Given the description of an element on the screen output the (x, y) to click on. 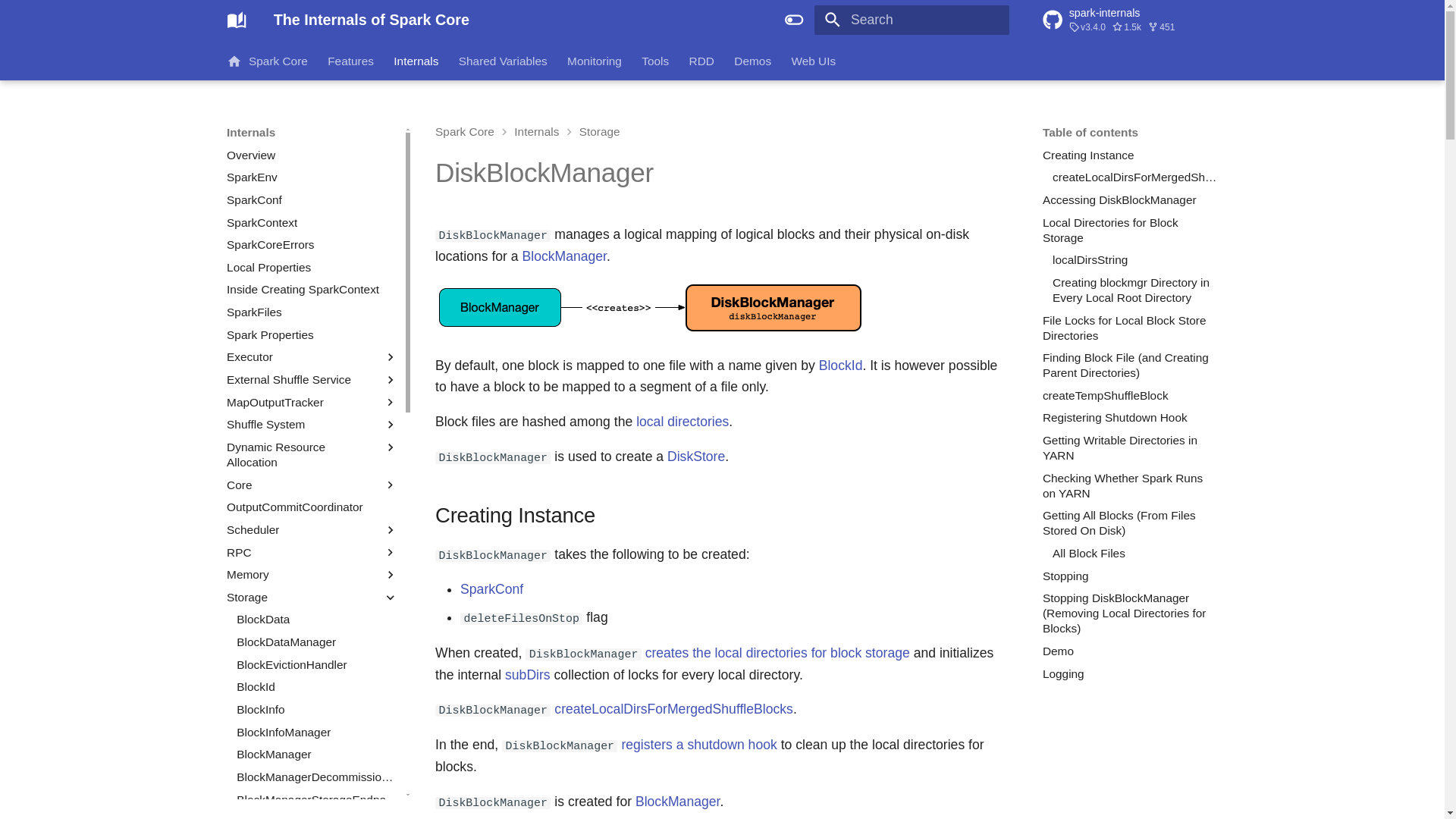
Spark Core (267, 60)
Monitoring (594, 60)
Internals (415, 60)
Go to repository (1129, 20)
Tools (655, 60)
BlockManagerStorageEndpoint (316, 799)
createLocalDirsForMergedShuffleBlocks (1134, 177)
Switch to dark mode (793, 19)
Web UIs (812, 60)
